Given the description of an element on the screen output the (x, y) to click on. 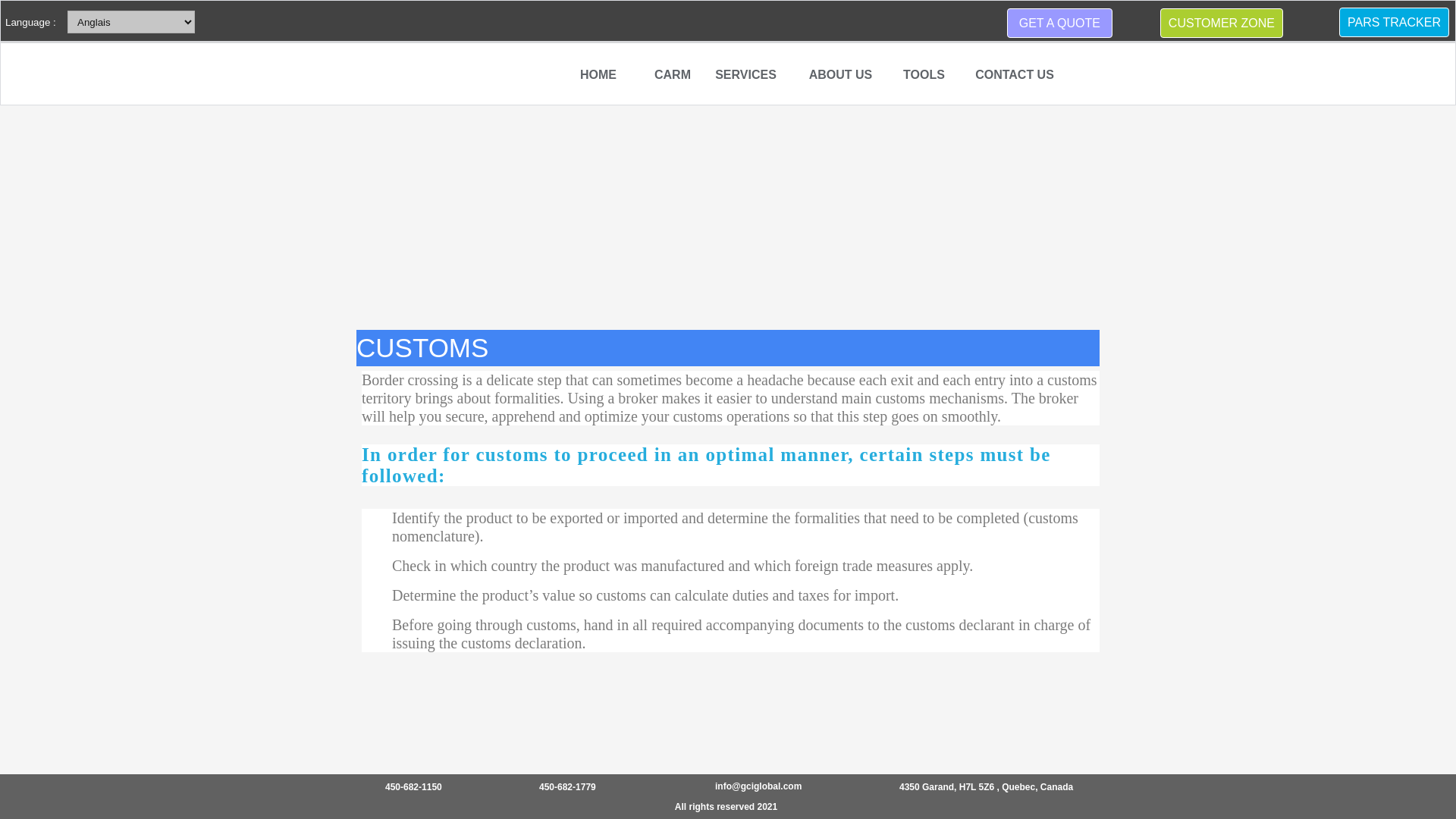
CARM (672, 74)
PARS TRACKER (1393, 21)
TOOLS (923, 74)
GET A QUOTE (1059, 22)
ABOUT US (840, 74)
CONTACT US (1014, 74)
SERVICES (745, 74)
HOME (598, 74)
CUSTOMER ZONE (1221, 22)
